Given the description of an element on the screen output the (x, y) to click on. 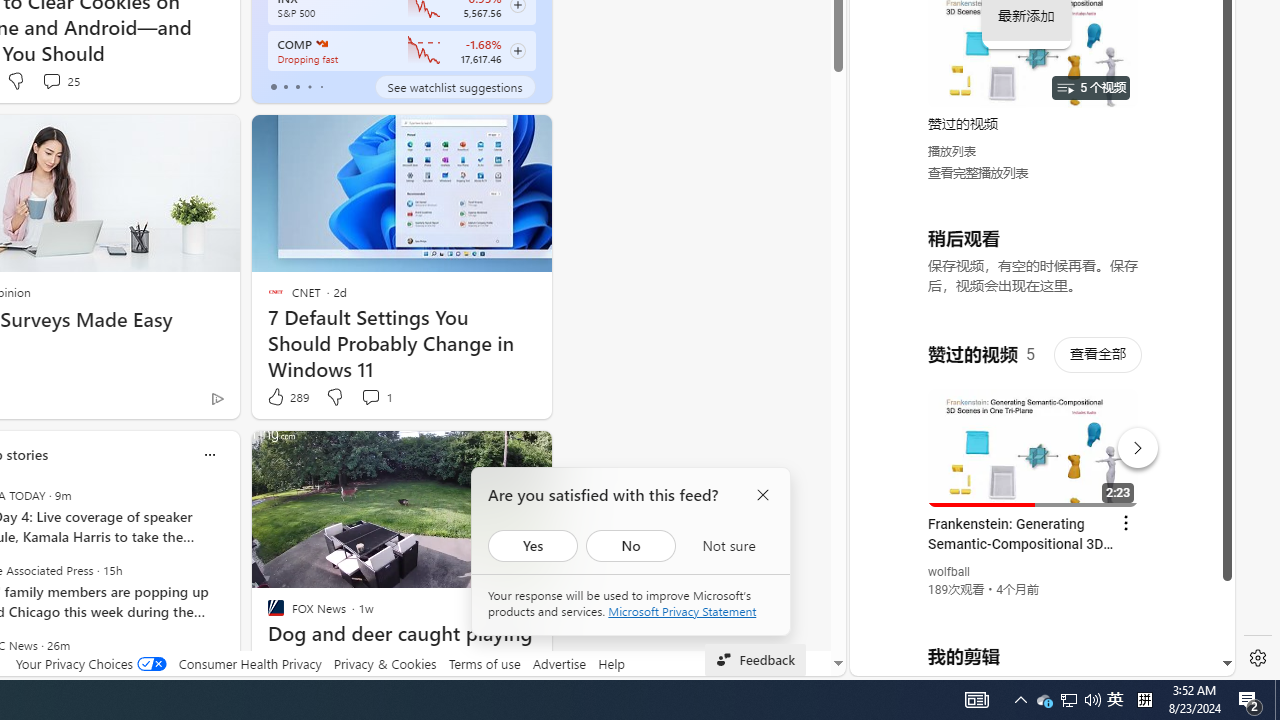
Class: follow-button  m (517, 51)
you (1034, 609)
Class: dict_pnIcon rms_img (1028, 660)
No (631, 545)
YouTube (1034, 432)
YouTube - YouTube (1034, 266)
#you (1034, 439)
Not sure (728, 545)
